Given the description of an element on the screen output the (x, y) to click on. 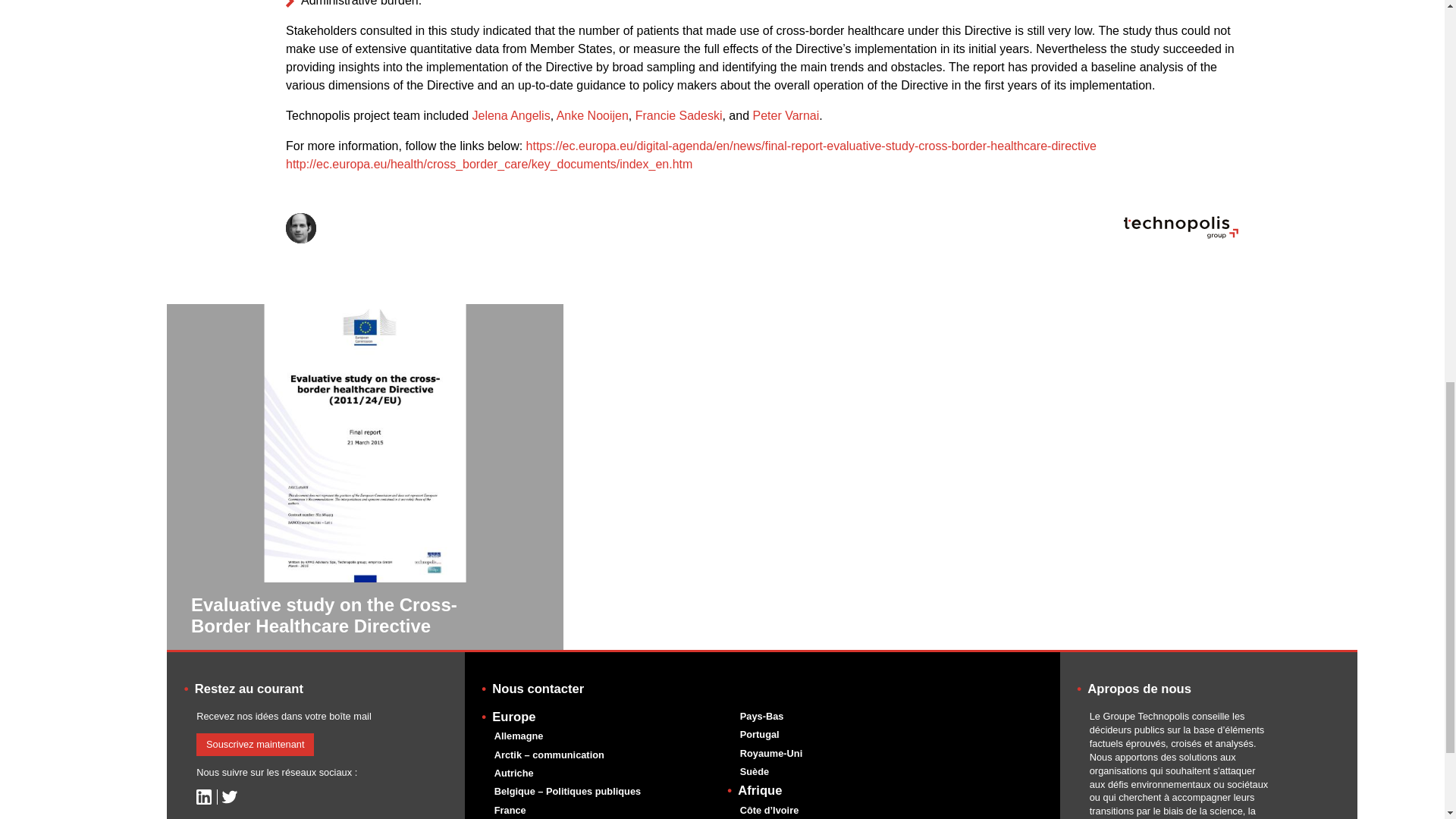
Allemagne (519, 736)
LinkedIn (203, 796)
Twitter (229, 796)
